Given the description of an element on the screen output the (x, y) to click on. 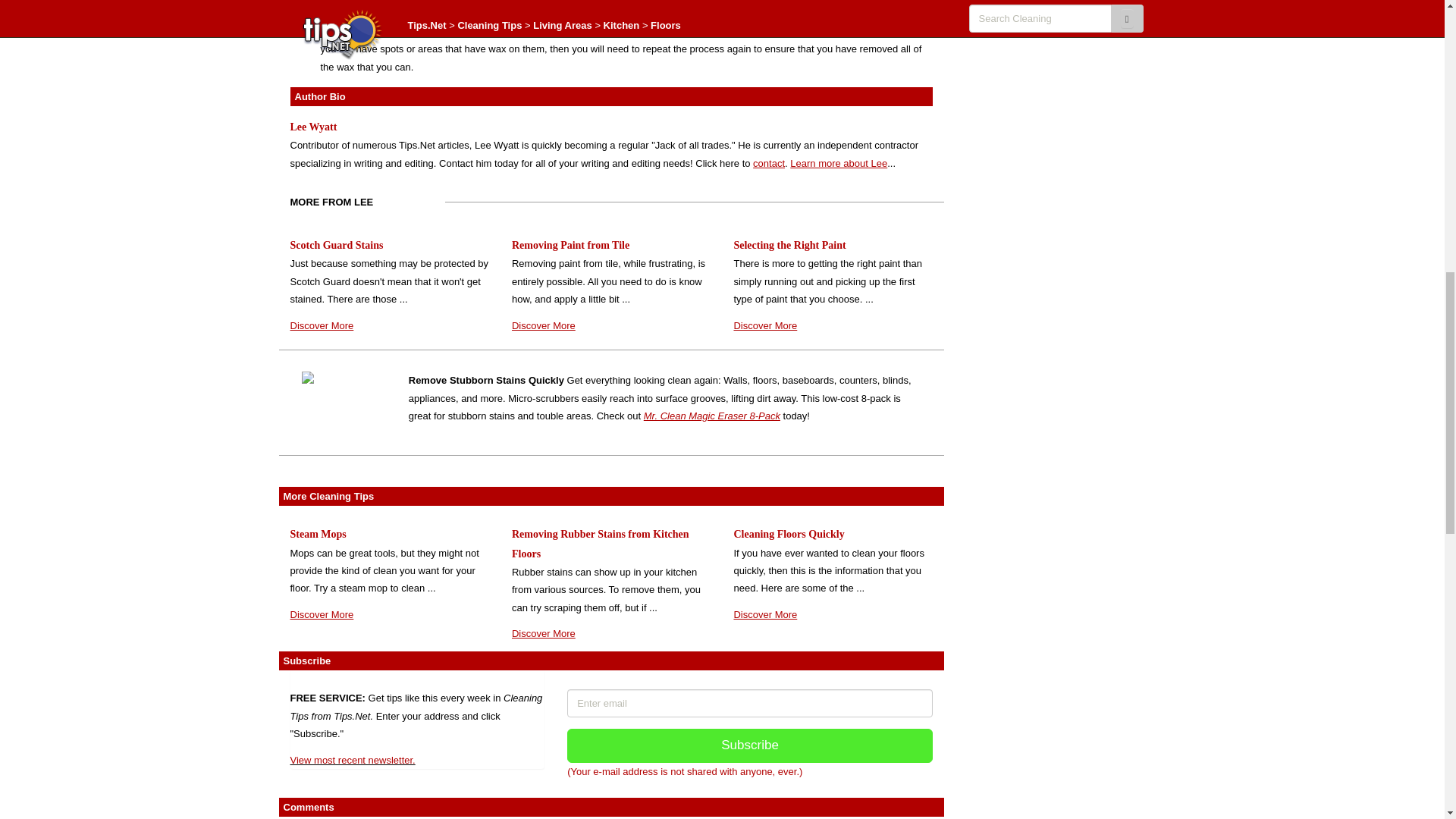
Mr. Clean Magic Eraser 8-Pack (711, 415)
contact (768, 163)
Learn more about Lee (838, 163)
Discover More (764, 614)
Discover More (543, 633)
Discover More (321, 614)
Discover More (321, 325)
Discover More (764, 325)
View most recent newsletter. (351, 759)
Subscribe (750, 745)
